Given the description of an element on the screen output the (x, y) to click on. 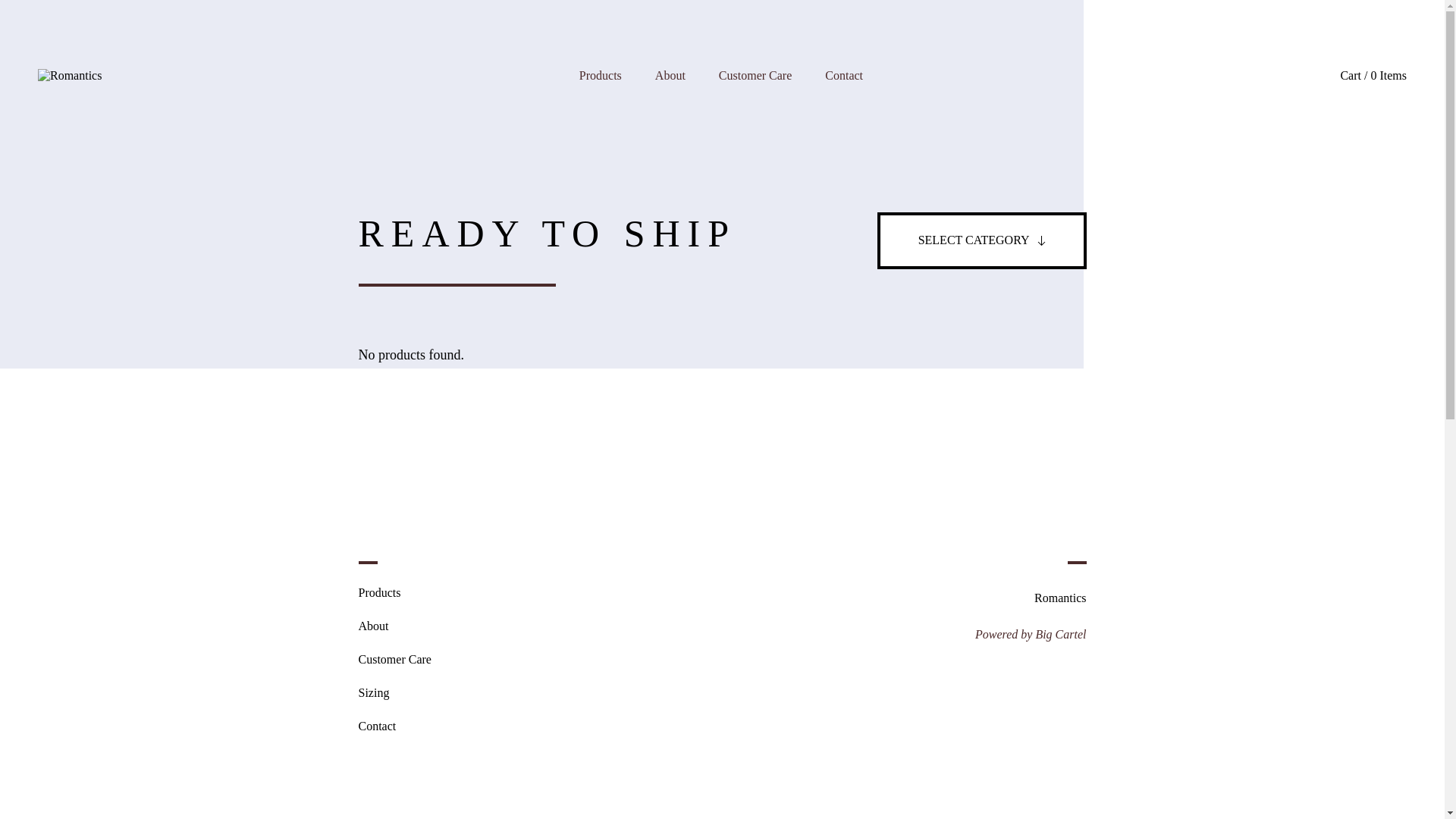
Customer Care Element type: text (755, 75)
About Element type: text (670, 75)
Powered by Big Cartel Element type: text (1030, 633)
Contact Element type: text (843, 75)
Romantics Element type: hover (69, 75)
Cart / 0 Items Element type: text (1372, 75)
About Element type: text (393, 626)
Products Element type: text (393, 592)
Contact Element type: text (393, 726)
Sizing Element type: text (393, 692)
Customer Care Element type: text (393, 659)
Products Element type: text (600, 75)
